Given the description of an element on the screen output the (x, y) to click on. 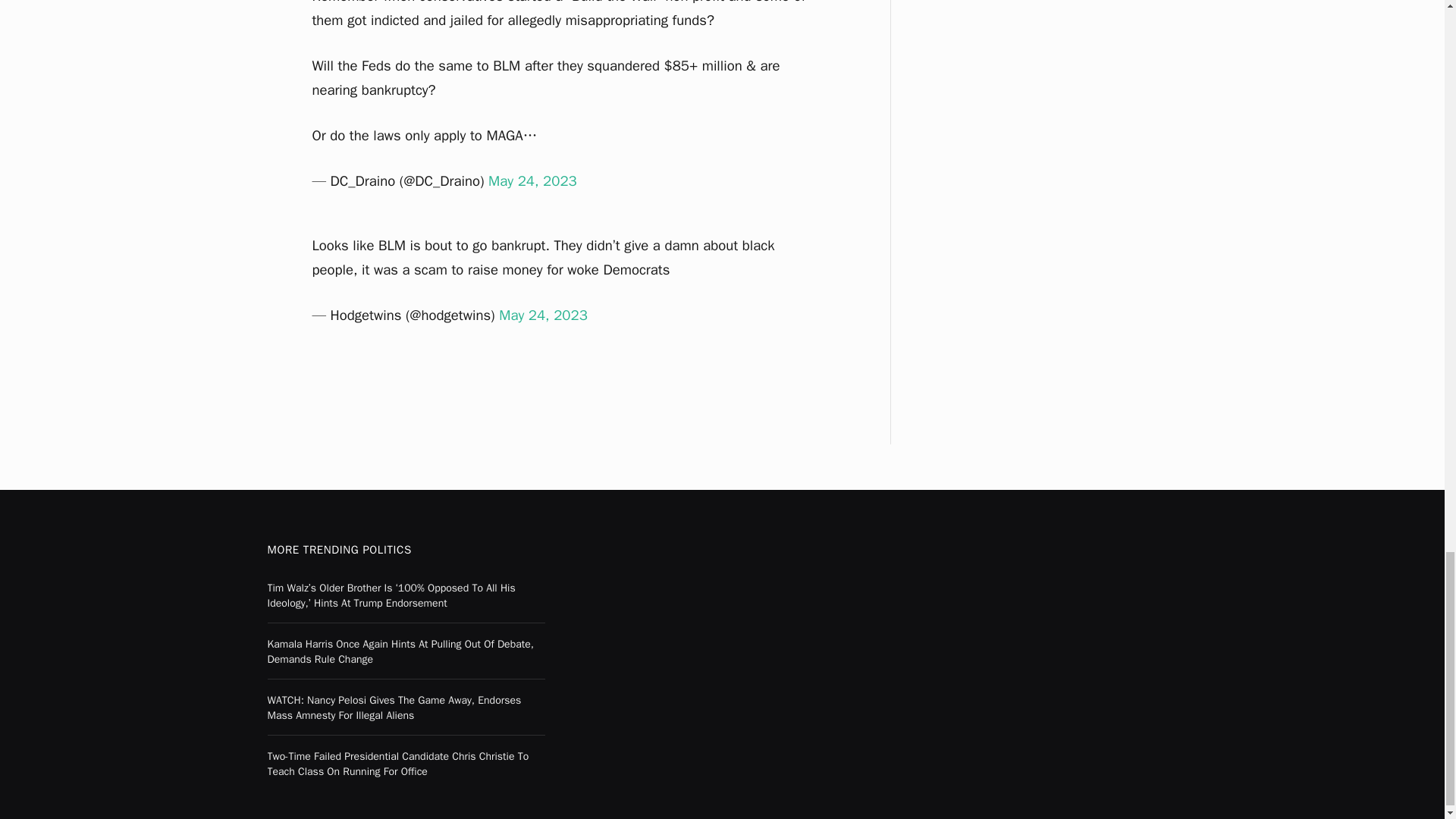
May 24, 2023 (543, 315)
May 24, 2023 (531, 180)
